Given the description of an element on the screen output the (x, y) to click on. 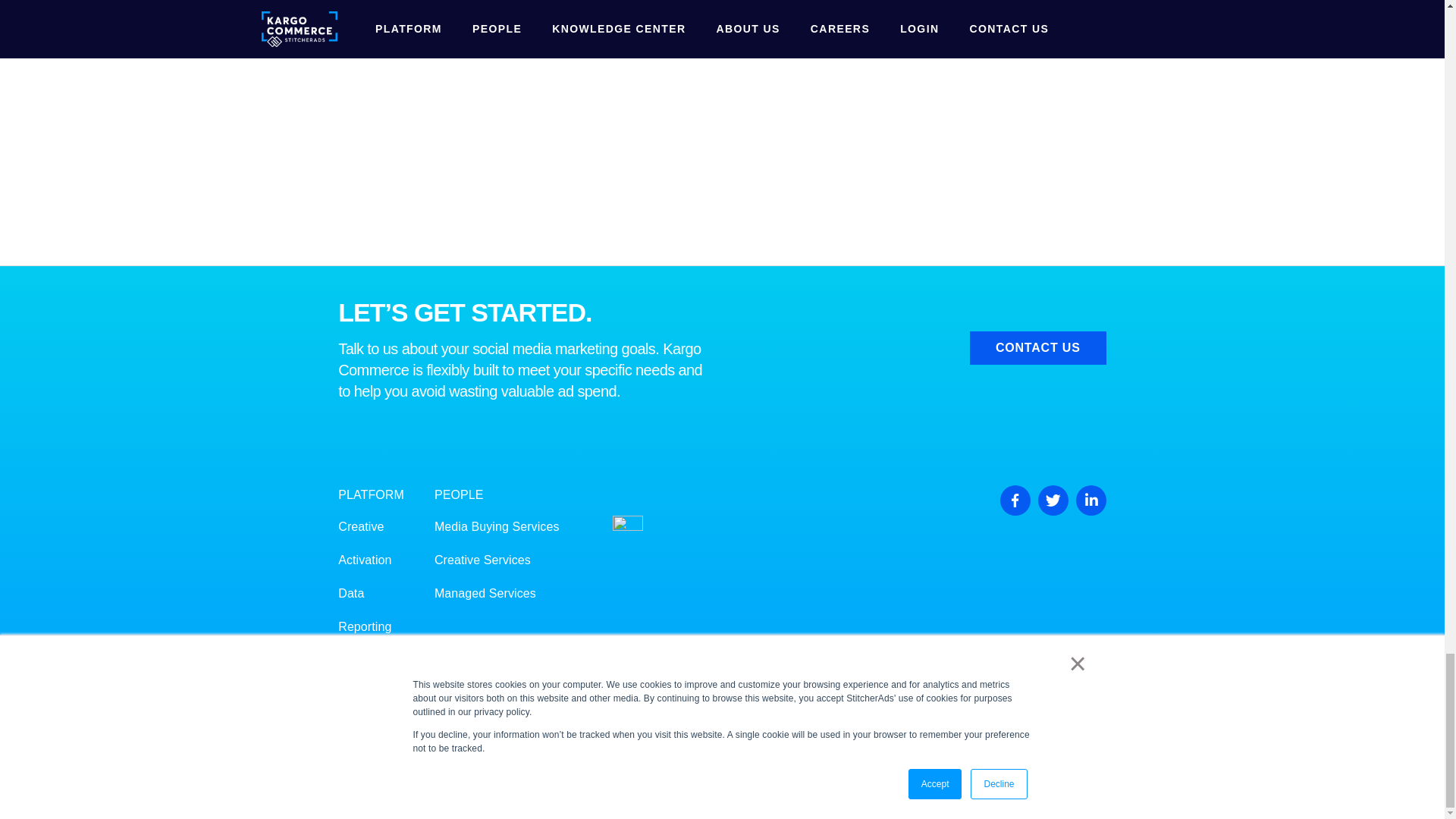
Creative (360, 526)
Managed Services (484, 593)
Activation (364, 559)
Media Buying Services (496, 526)
LinkedIn (1090, 500)
Reporting (364, 626)
Careers (359, 727)
Creative Services (482, 559)
Facebook (1015, 500)
Resources (366, 659)
Twitter (1053, 500)
About Us (362, 693)
CONTACT US (1037, 347)
Data (350, 593)
